Given the description of an element on the screen output the (x, y) to click on. 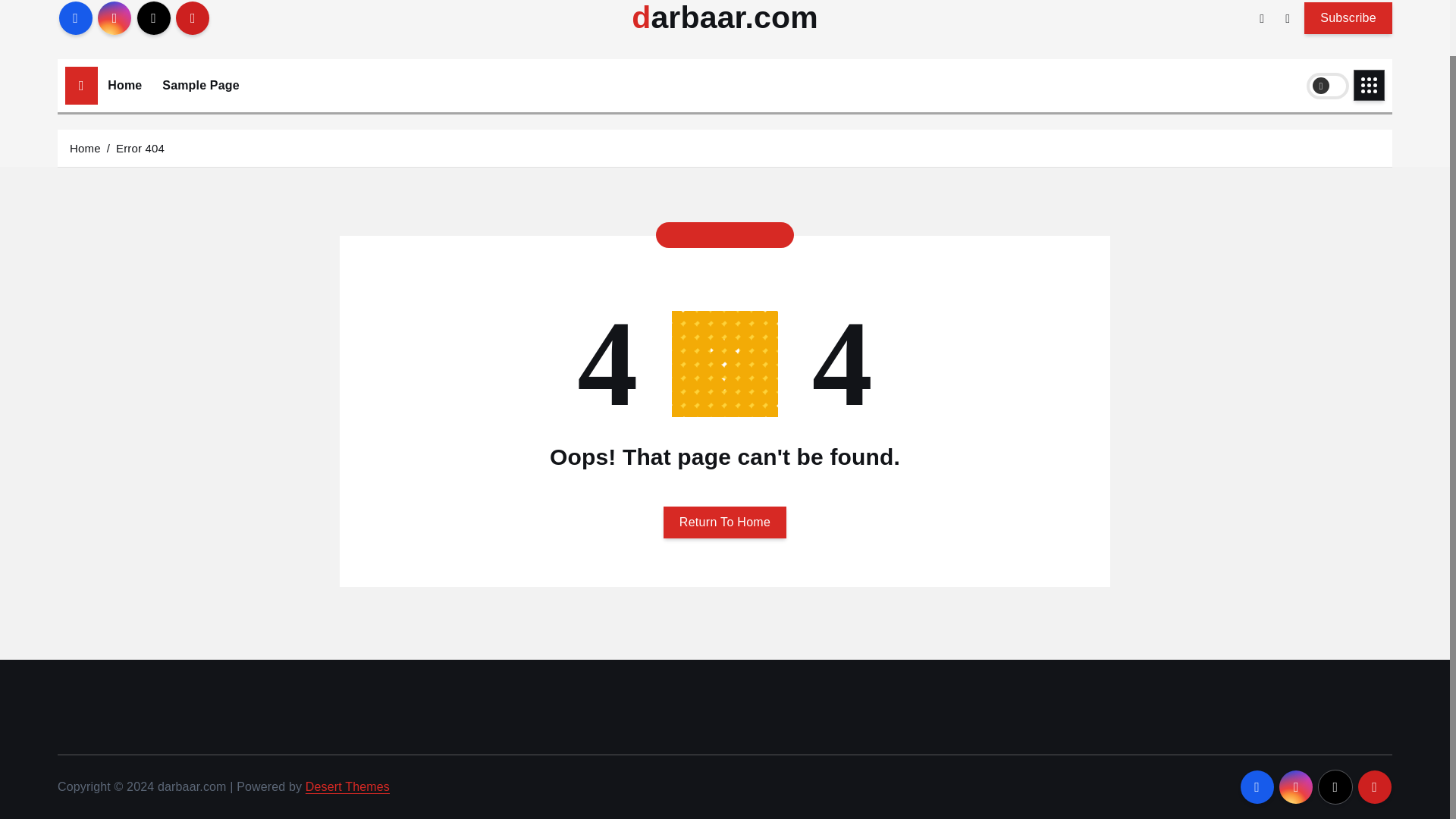
Desert Themes (347, 786)
Sample Page (200, 85)
Home (124, 85)
Home (84, 146)
Home (124, 85)
Subscribe (1347, 17)
Return To Home (724, 522)
darbaar.com (724, 17)
Error 404 (140, 146)
